Given the description of an element on the screen output the (x, y) to click on. 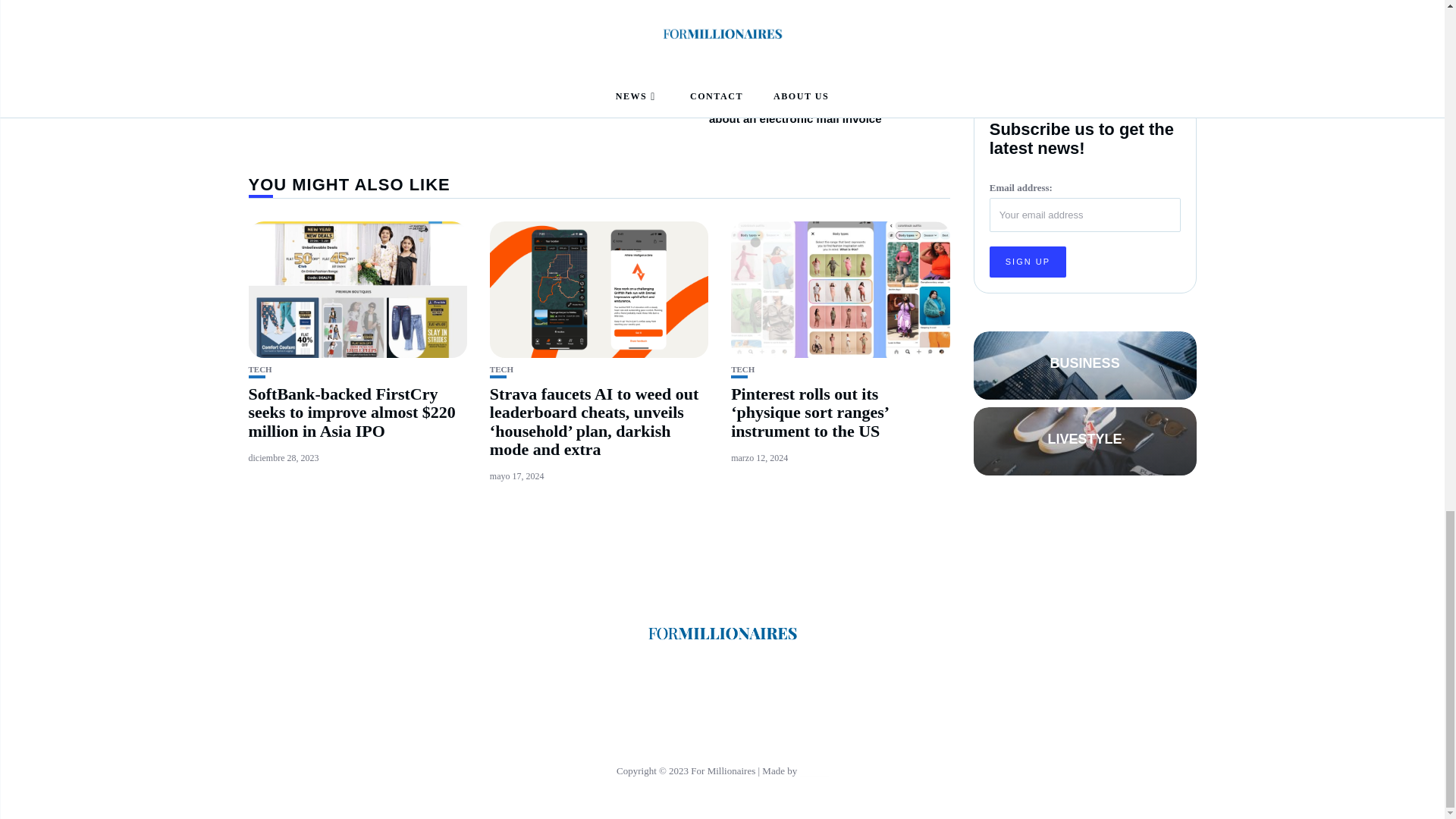
TECH (260, 369)
TECH (501, 369)
TECH (742, 369)
Sign up (1027, 239)
